Given the description of an element on the screen output the (x, y) to click on. 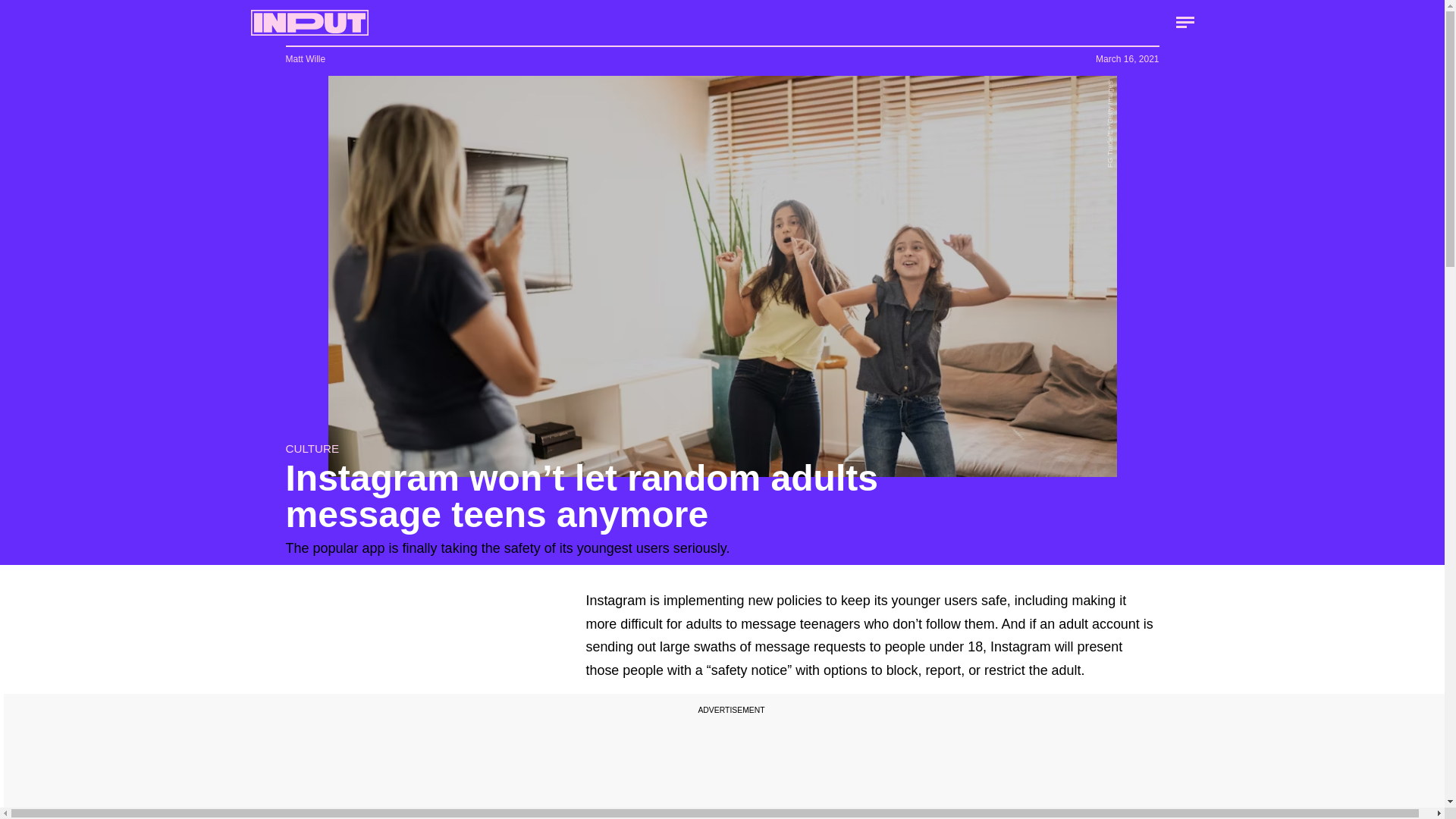
Matt Wille (304, 59)
Input (309, 22)
